Given the description of an element on the screen output the (x, y) to click on. 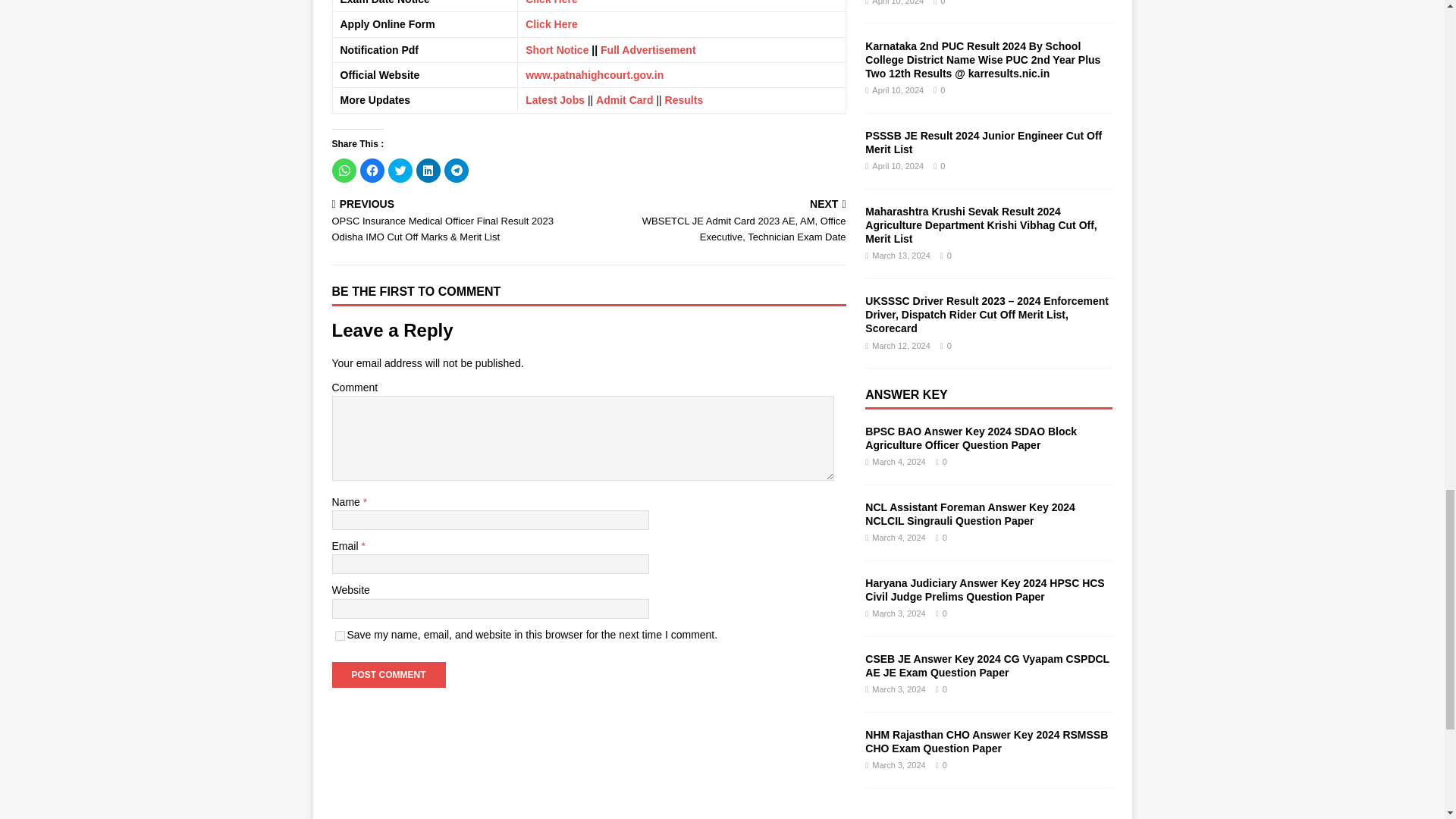
Full Advertisement (647, 50)
Click Here (550, 2)
Click to share on Twitter (400, 170)
Click to share on LinkedIn (426, 170)
Admit Card (623, 100)
Post Comment (388, 674)
Short Notice (556, 50)
Latest Jobs (555, 100)
yes (339, 635)
www.patnahighcourt.gov.in (594, 74)
Click Here (550, 24)
Click to share on WhatsApp (343, 170)
Post Comment (388, 674)
Click to share on Facebook (371, 170)
